Given the description of an element on the screen output the (x, y) to click on. 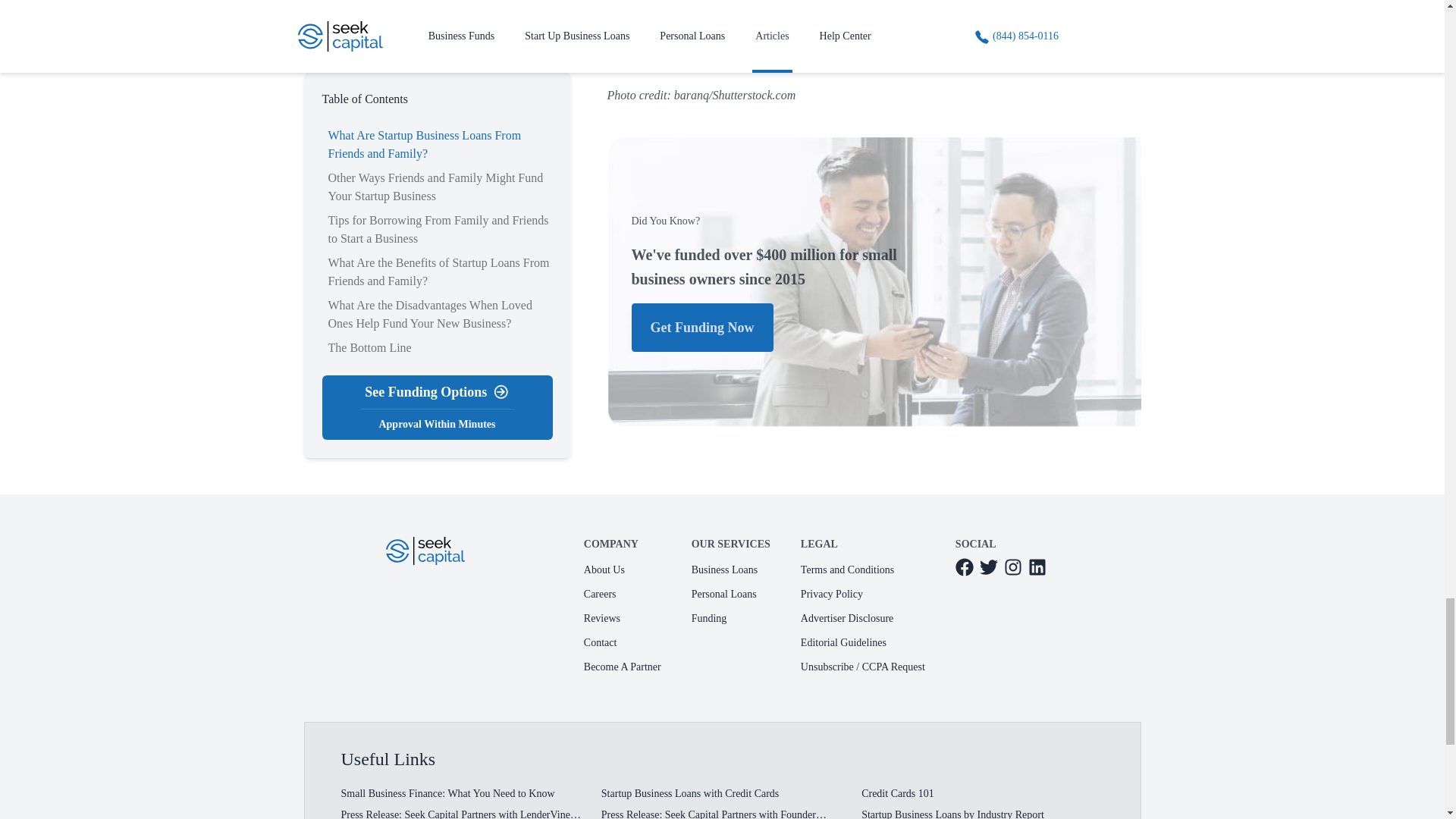
Small Business Loans (684, 3)
Truck Financing Options (691, 55)
Equipment Loans (673, 28)
